Given the description of an element on the screen output the (x, y) to click on. 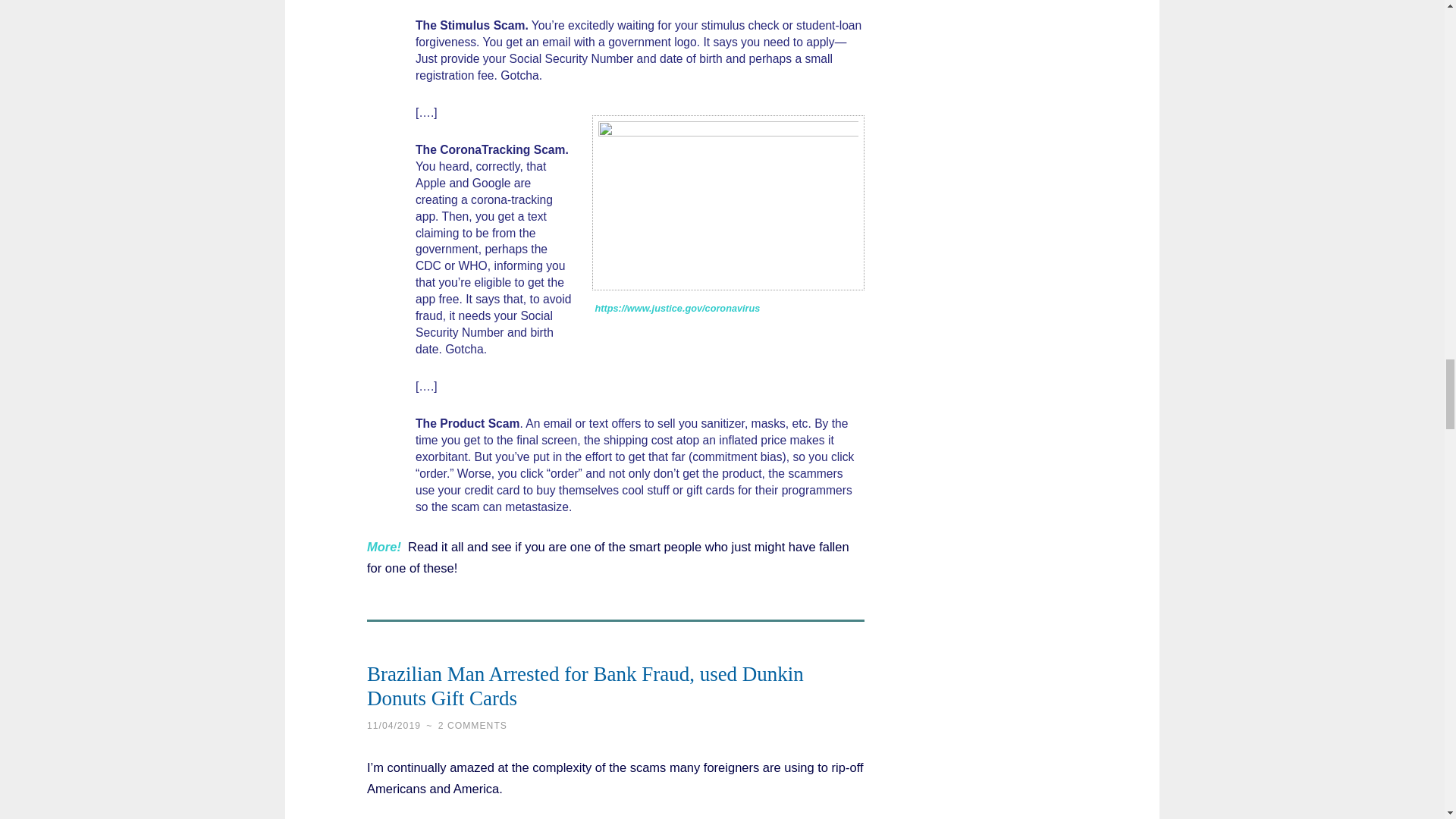
More! (383, 546)
2 COMMENTS (472, 725)
